Given the description of an element on the screen output the (x, y) to click on. 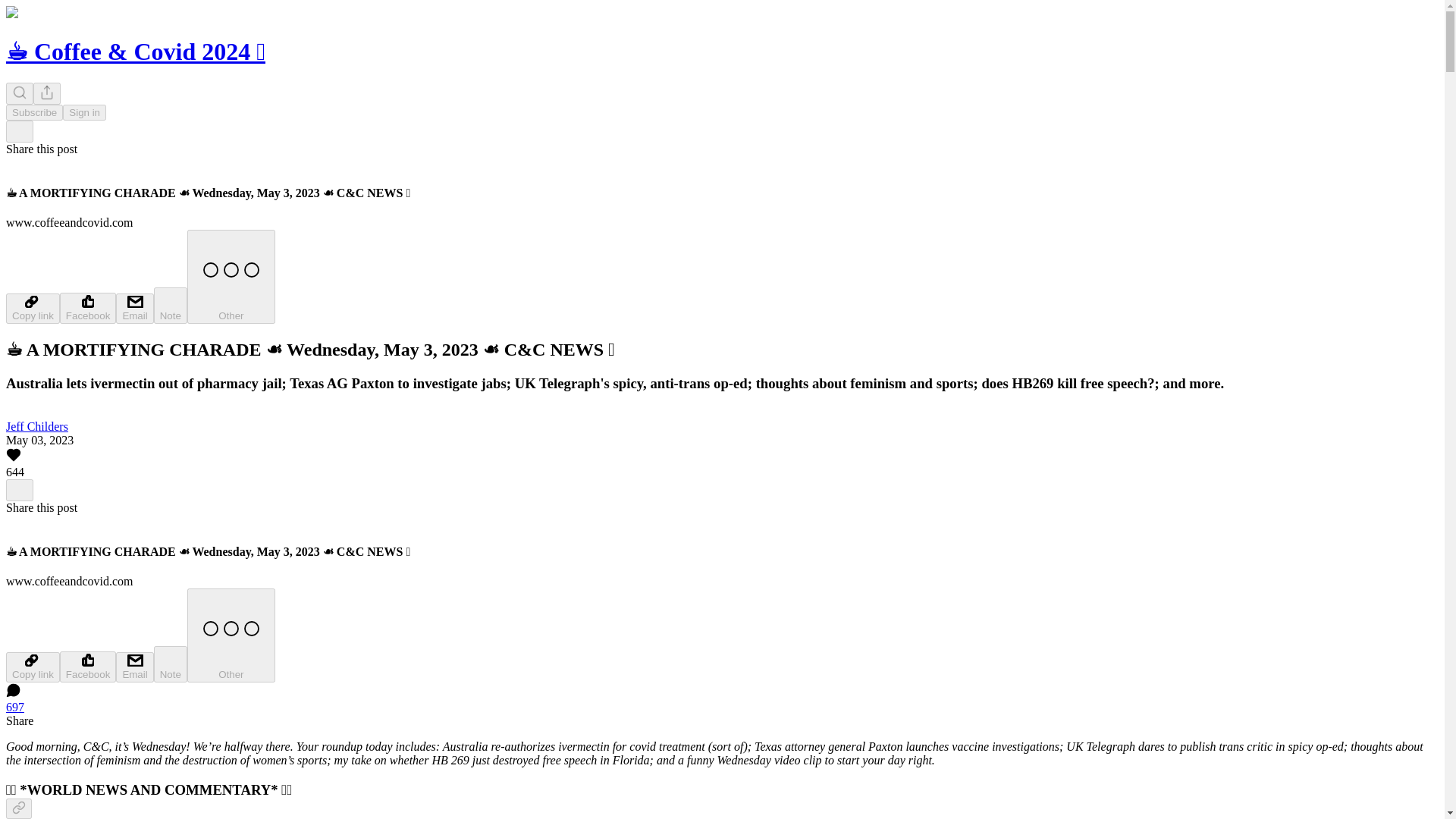
Facebook (87, 666)
Email (134, 666)
Other (231, 635)
Subscribe (33, 112)
Other (231, 276)
Note (170, 664)
Jeff Childers (36, 426)
Copy link (32, 666)
Note (170, 305)
Email (134, 308)
